Given the description of an element on the screen output the (x, y) to click on. 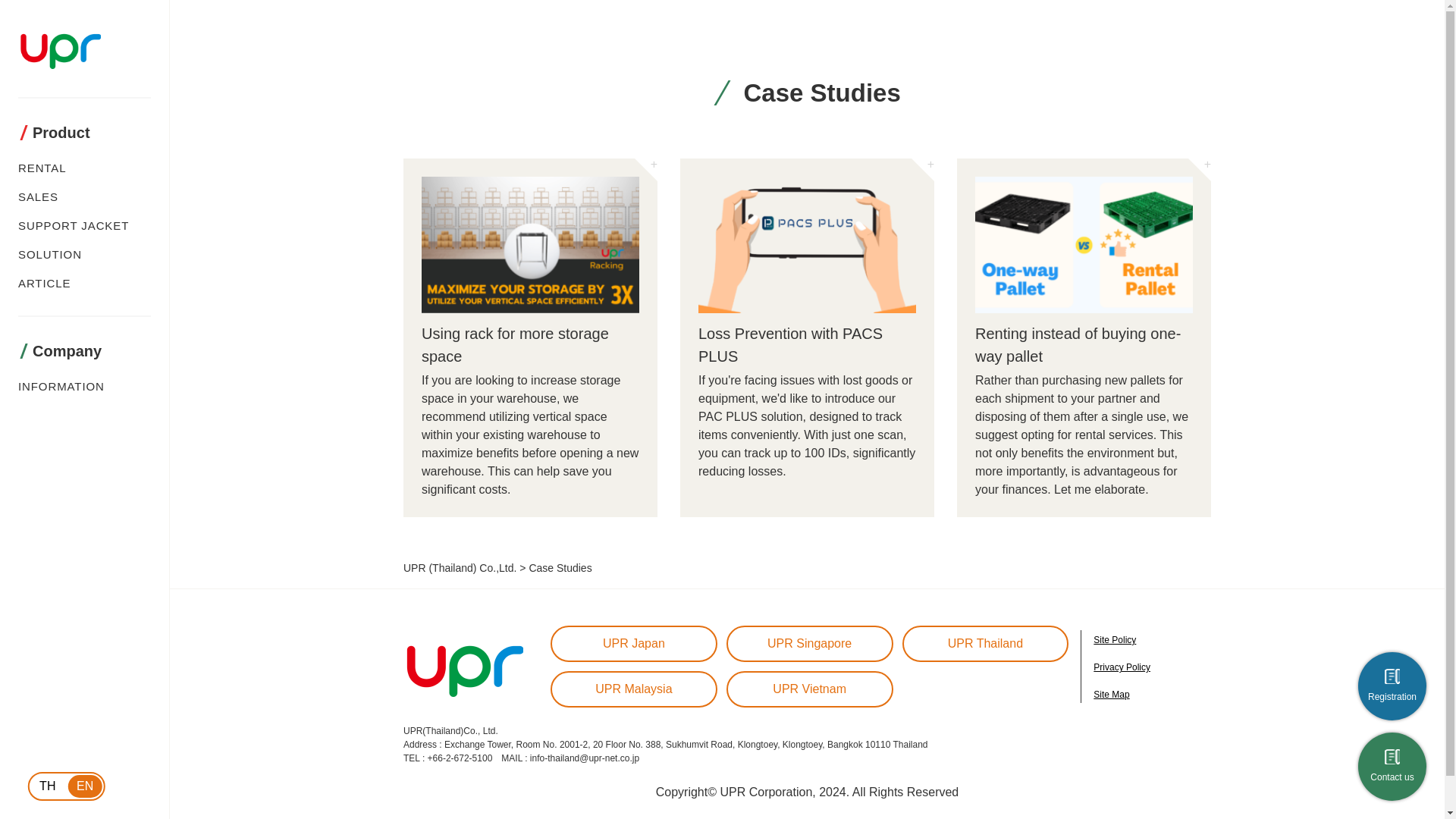
Site Policy (1114, 639)
SOLUTION (49, 254)
SUPPORT JACKET (73, 225)
SALES (809, 688)
Contact us (37, 196)
TH (1392, 766)
RENTAL (47, 785)
